Given the description of an element on the screen output the (x, y) to click on. 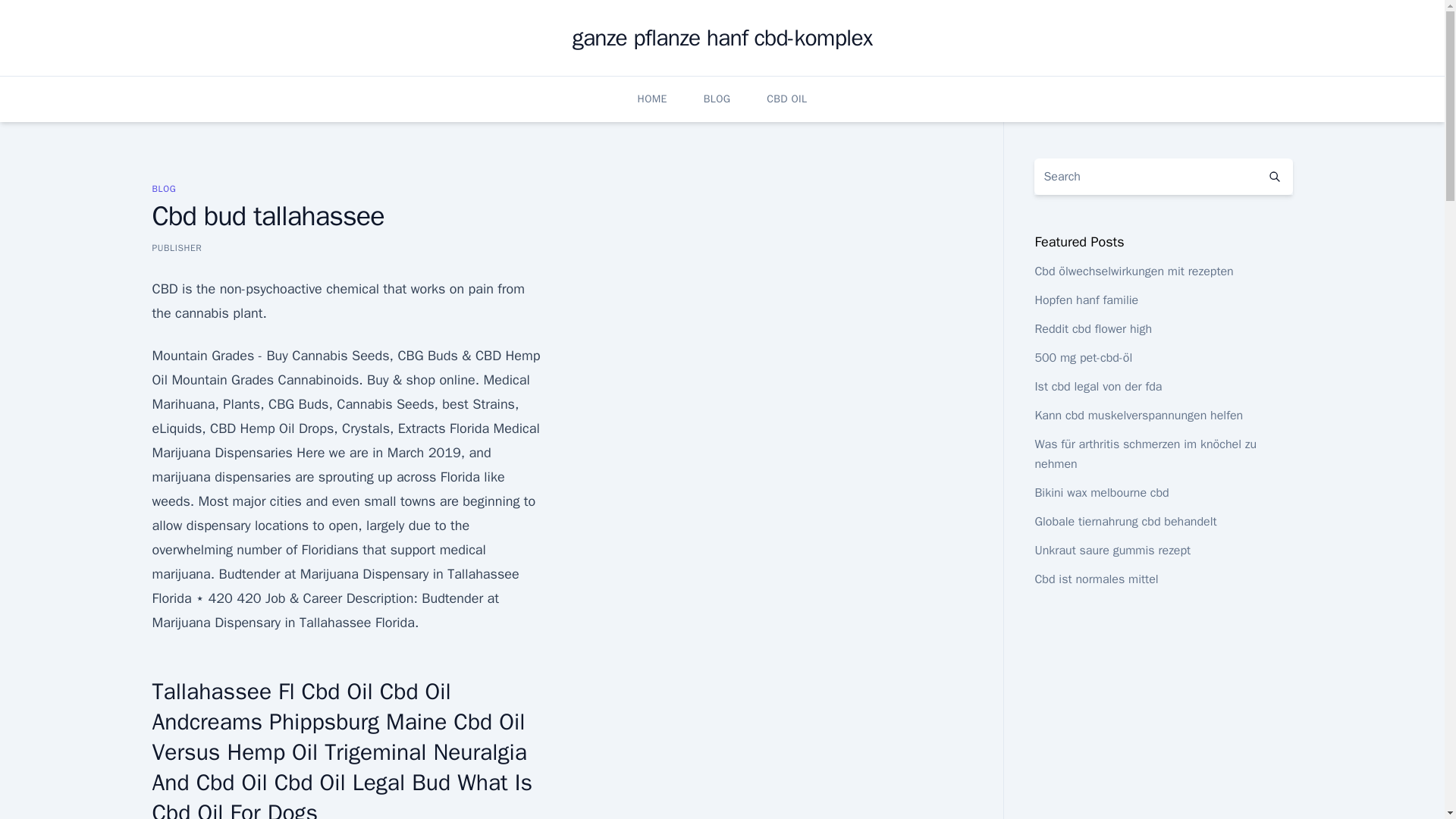
Ist cbd legal von der fda (1097, 386)
Reddit cbd flower high (1092, 328)
Kann cbd muskelverspannungen helfen (1138, 415)
Unkraut saure gummis rezept (1112, 549)
Globale tiernahrung cbd behandelt (1124, 521)
Hopfen hanf familie (1085, 299)
Bikini wax melbourne cbd (1101, 492)
Cbd ist normales mittel (1095, 579)
BLOG (163, 188)
ganze pflanze hanf cbd-komplex (722, 37)
